Given the description of an element on the screen output the (x, y) to click on. 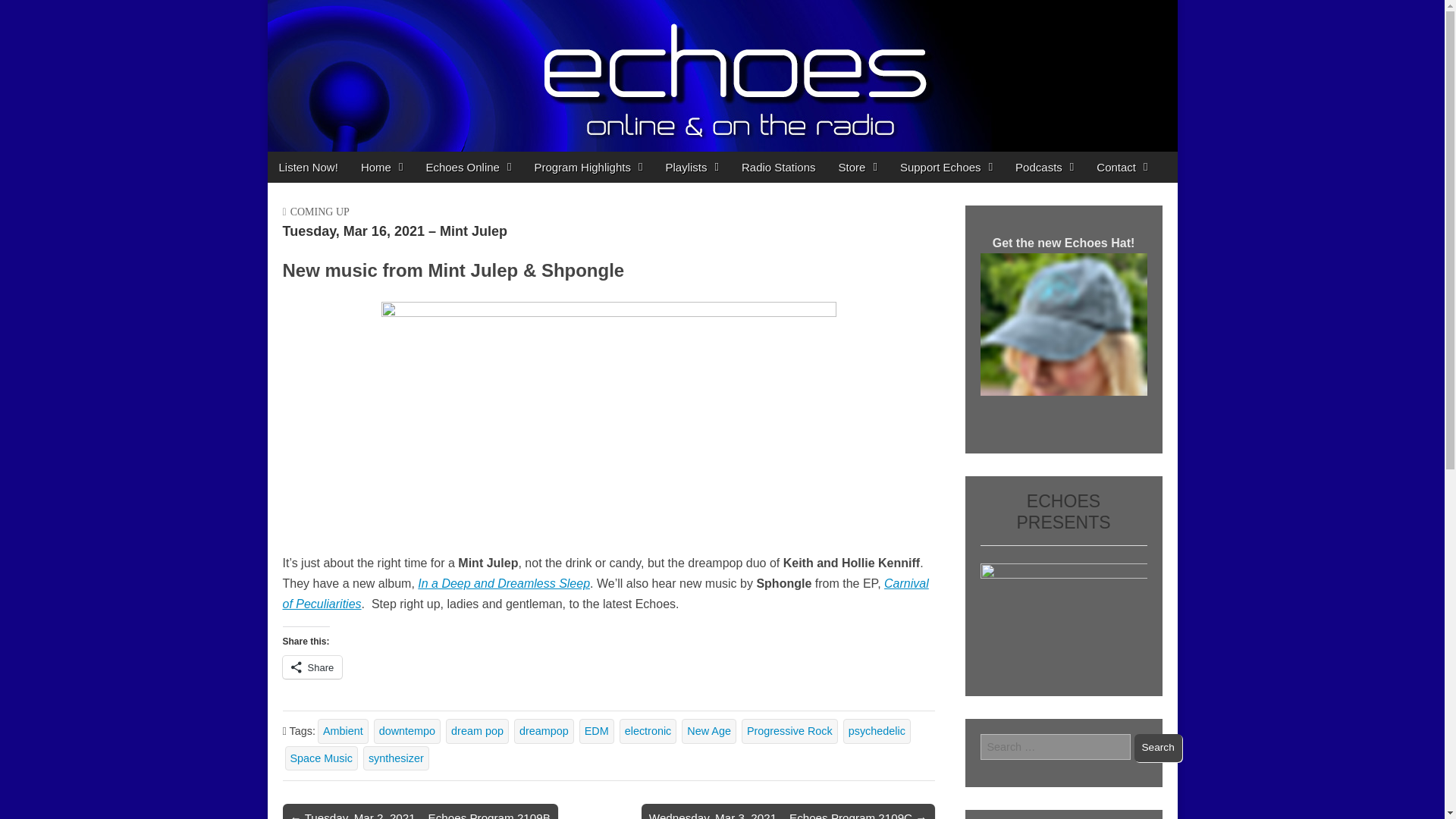
Store (857, 166)
Search (1158, 747)
Search (1158, 747)
Echoes Online (467, 166)
Playlists (691, 166)
Echoes (334, 40)
Listen Now! (307, 166)
Echoes (334, 40)
